Given the description of an element on the screen output the (x, y) to click on. 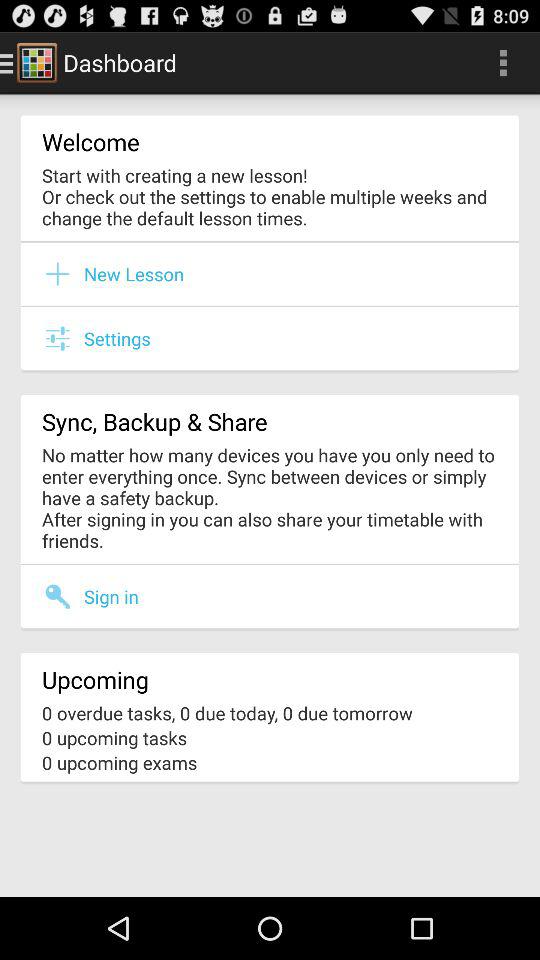
jump to the start with creating item (269, 196)
